Given the description of an element on the screen output the (x, y) to click on. 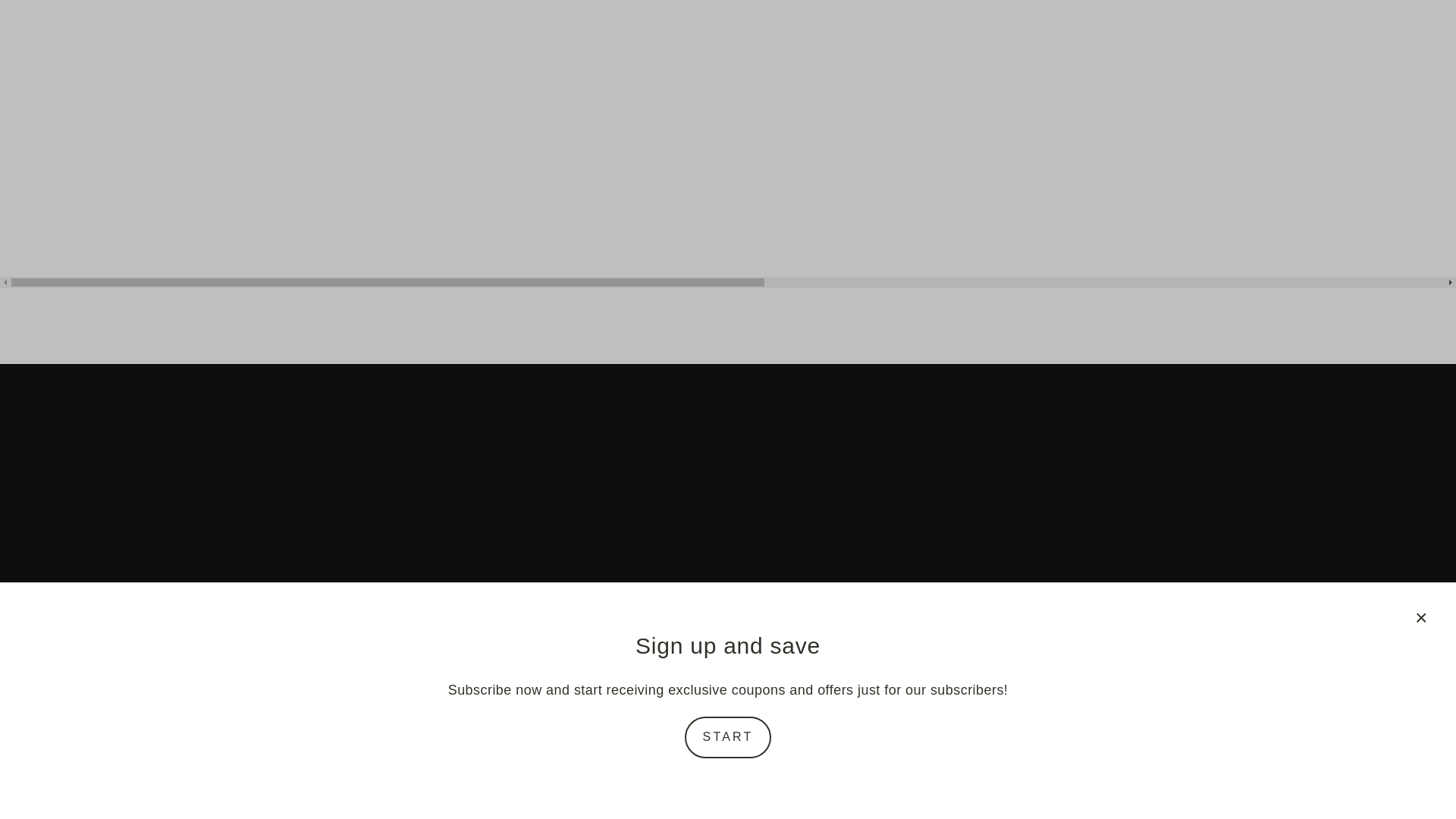
Diners Club (627, 775)
American Express (547, 775)
Apple Pay (587, 775)
Mastercard (788, 775)
Visa (948, 775)
PayPal (827, 775)
Meta Pay (708, 775)
Google Pay (747, 775)
Shop Pay (868, 775)
Venmo (908, 775)
Discover (667, 775)
Amazon (507, 775)
